Given the description of an element on the screen output the (x, y) to click on. 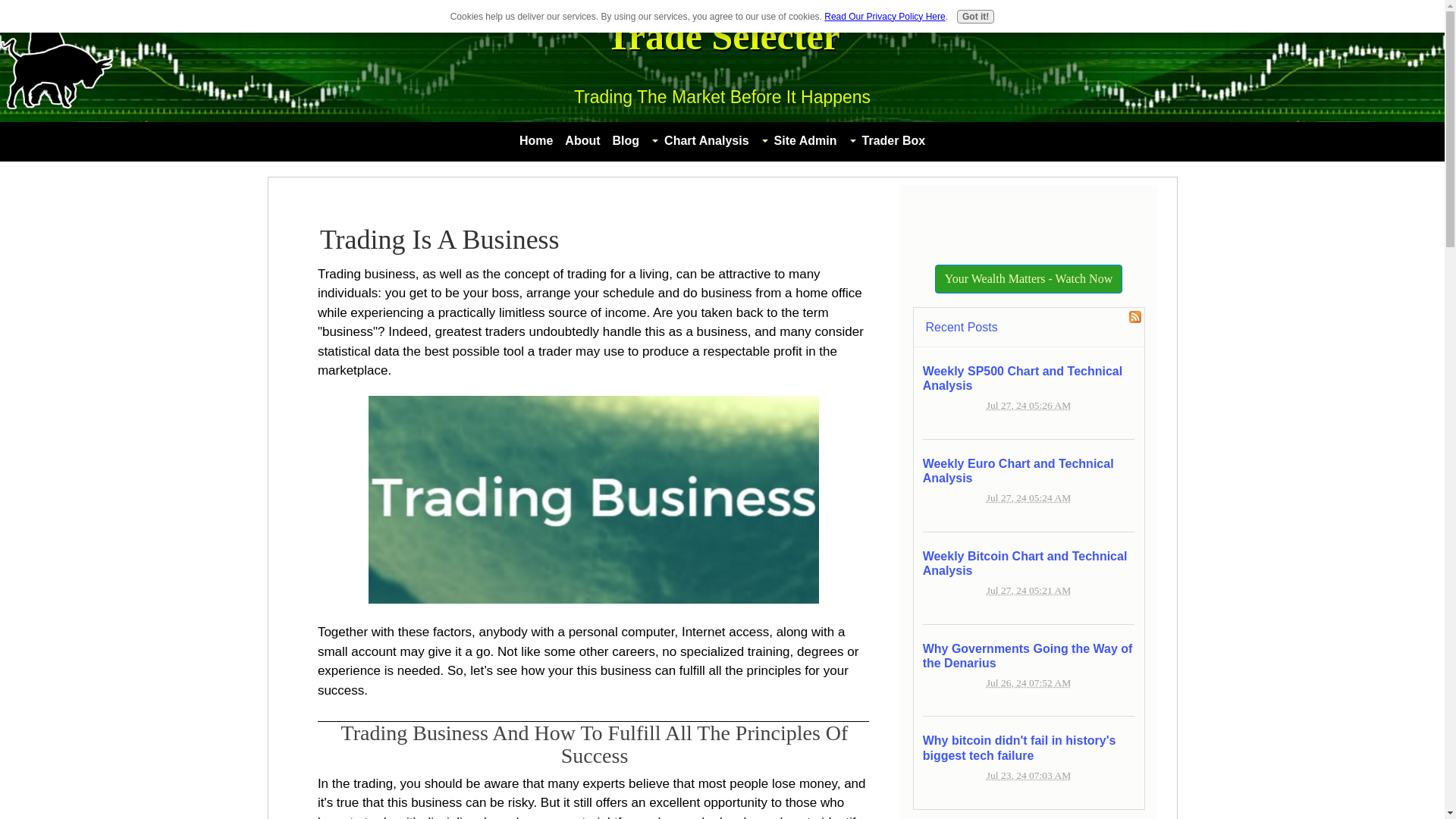
Blog (626, 140)
Trading Is a Business (593, 499)
2024-07-27T05:26:56-0400 (1028, 405)
2024-07-23T07:03:43-0400 (1028, 775)
About (582, 140)
Trade Selecter (722, 36)
2024-07-26T07:52:55-0400 (1028, 682)
Home (536, 140)
2024-07-27T05:24:08-0400 (1028, 497)
2024-07-27T05:21:36-0400 (1028, 590)
